Given the description of an element on the screen output the (x, y) to click on. 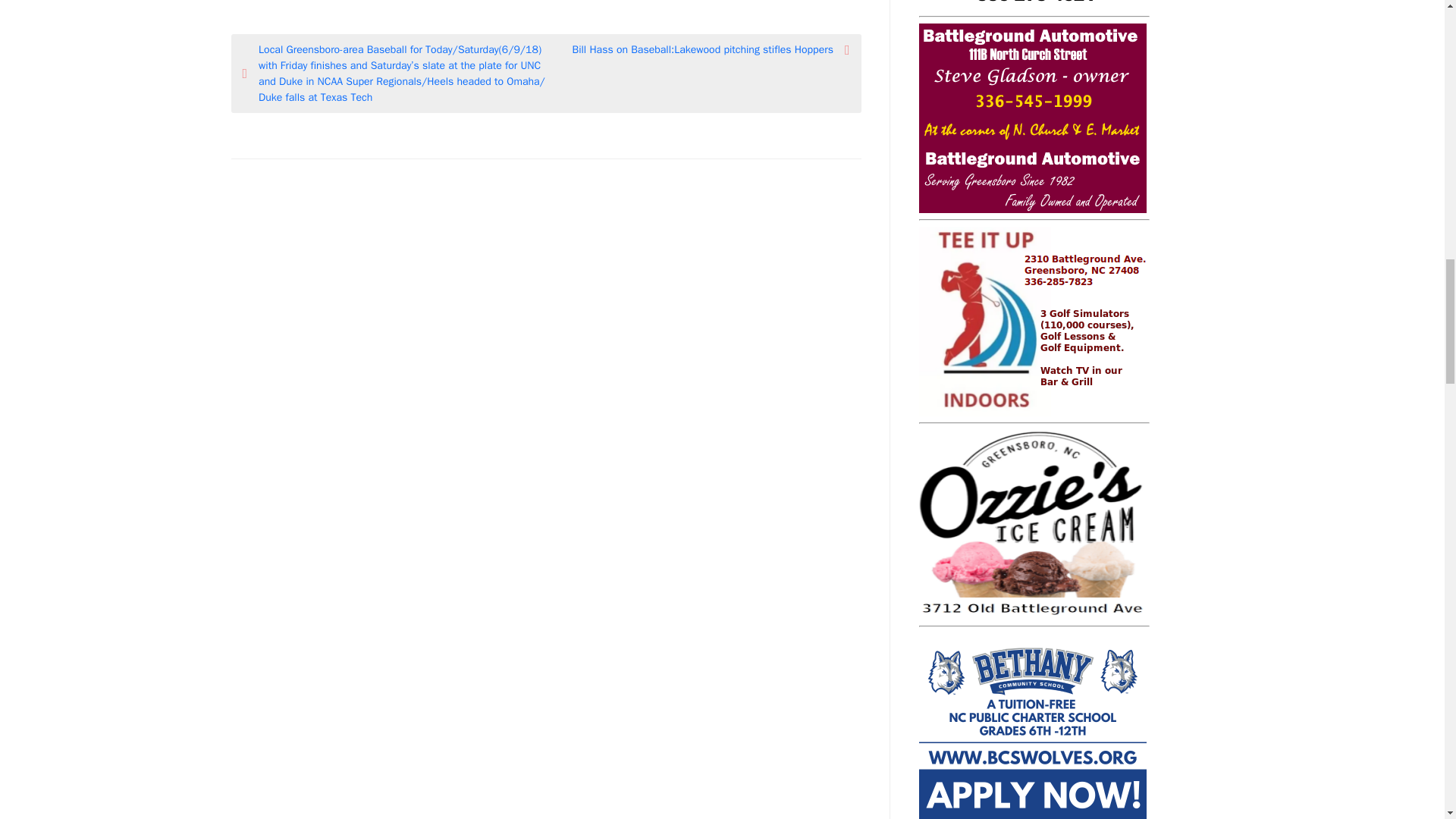
Bill Hass on Baseball:Lakewood pitching stifles Hoppers (698, 49)
